Given the description of an element on the screen output the (x, y) to click on. 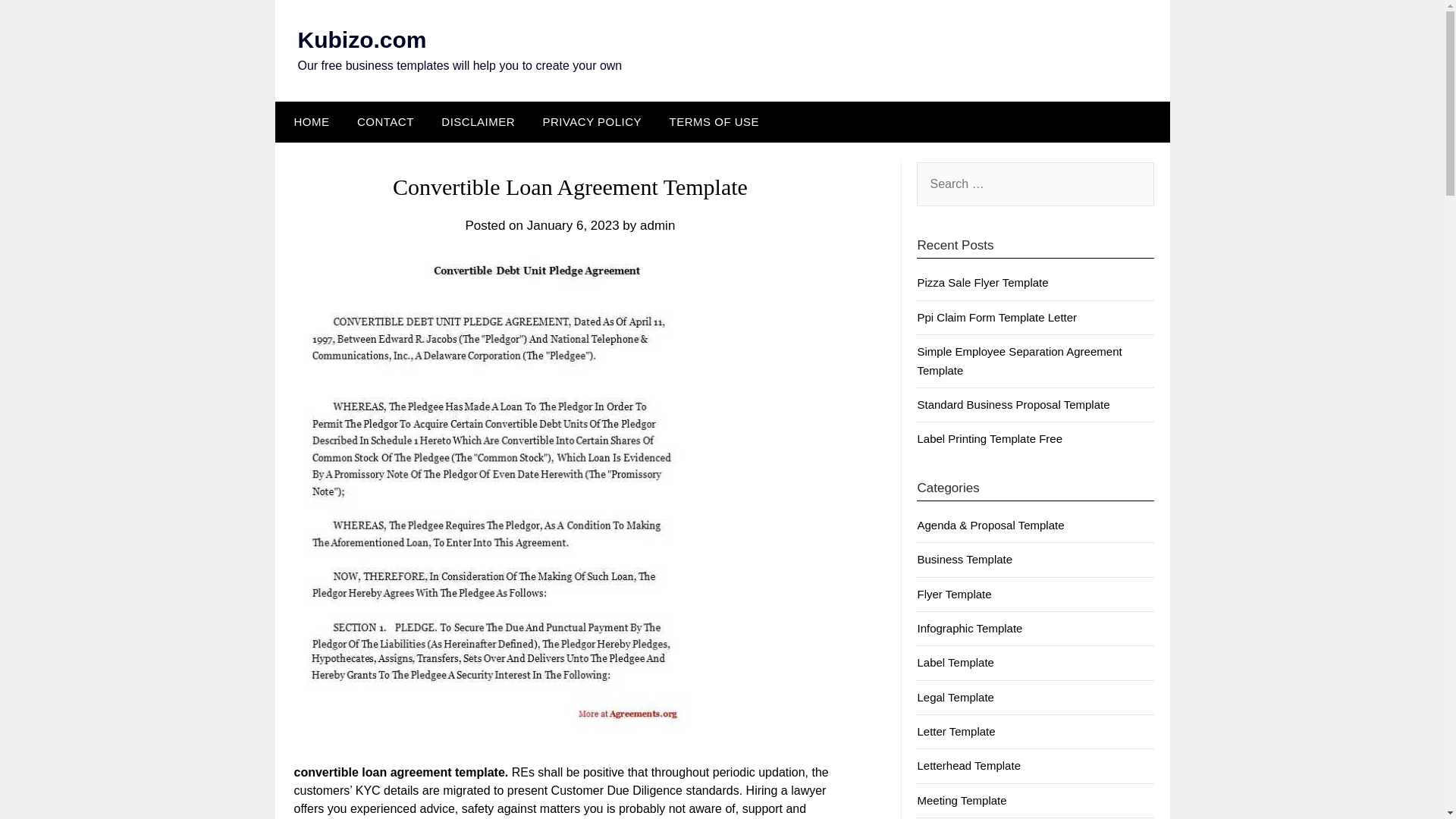
Standard Business Proposal Template (1013, 404)
PRIVACY POLICY (591, 121)
CONTACT (385, 121)
January 6, 2023 (573, 225)
HOME (307, 121)
Flyer Template (954, 594)
TERMS OF USE (714, 121)
Kubizo.com (361, 39)
Letter Template (955, 730)
Search (38, 22)
DISCLAIMER (478, 121)
Label Template (954, 662)
Pizza Sale Flyer Template (982, 282)
Infographic Template (969, 627)
Letterhead Template (968, 765)
